Given the description of an element on the screen output the (x, y) to click on. 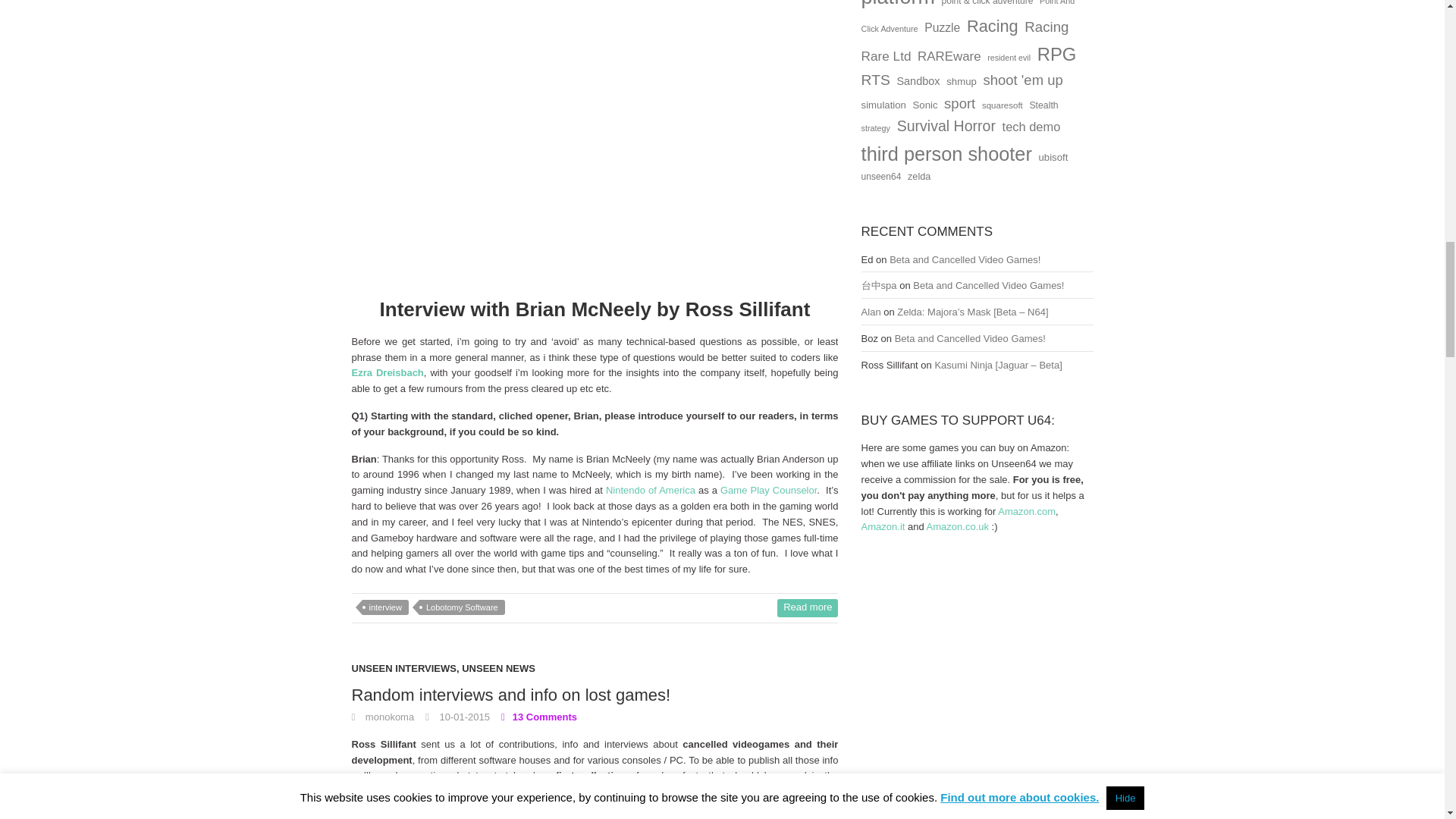
12:18 (457, 716)
Random interviews and info on lost games! (511, 694)
